Given the description of an element on the screen output the (x, y) to click on. 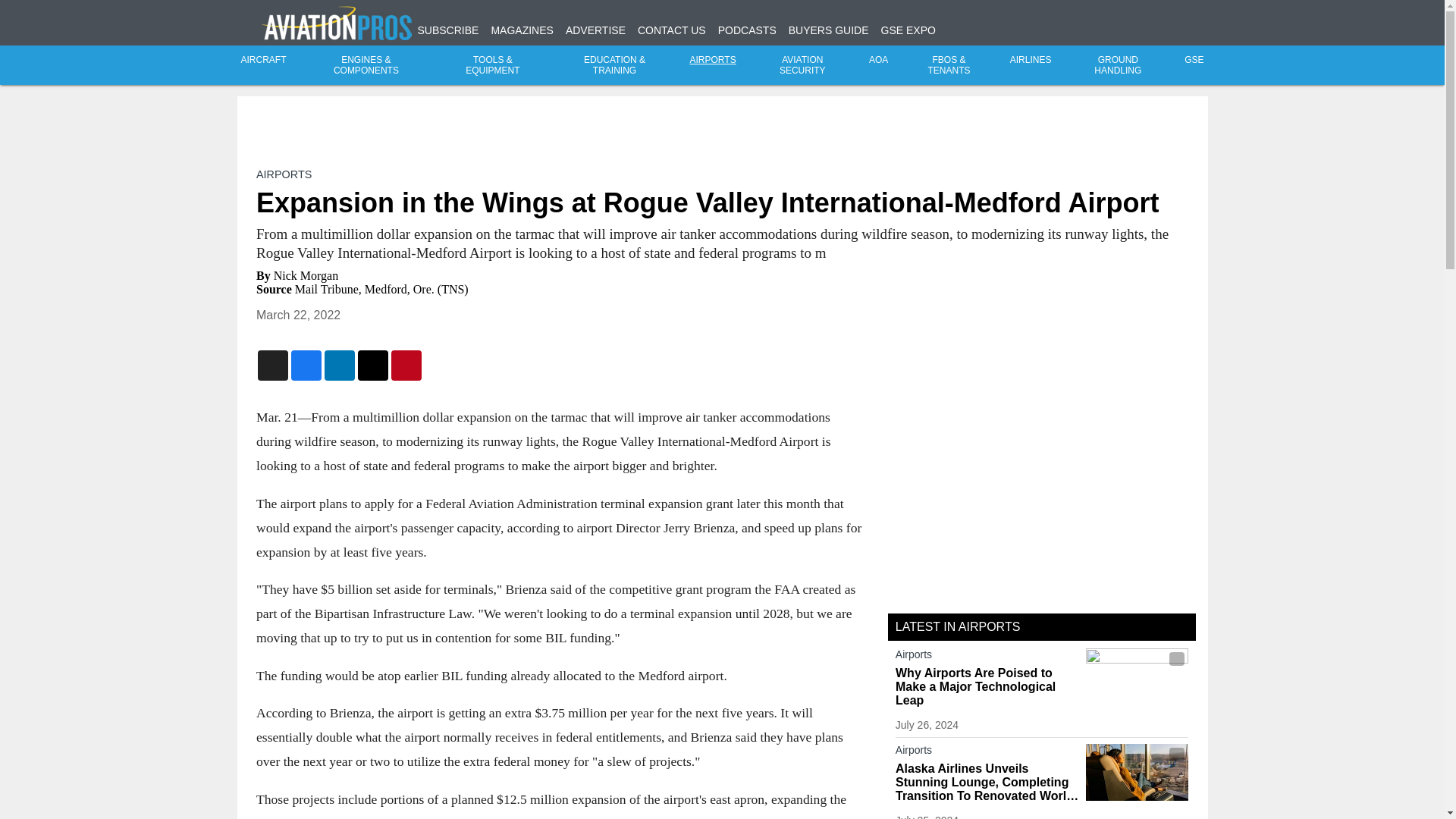
AIRCRAFT (263, 59)
GSE EXPO (908, 30)
AVIATION SECURITY (801, 65)
PODCASTS (746, 30)
Airports (986, 752)
GSE (1194, 59)
GROUND HANDLING (1117, 65)
SUBSCRIBE (447, 30)
AOA (878, 59)
BUYERS GUIDE (829, 30)
CONTACT US (671, 30)
AIRPORTS (283, 174)
MAGAZINES (521, 30)
LATEST IN AIRPORTS (957, 626)
